Given the description of an element on the screen output the (x, y) to click on. 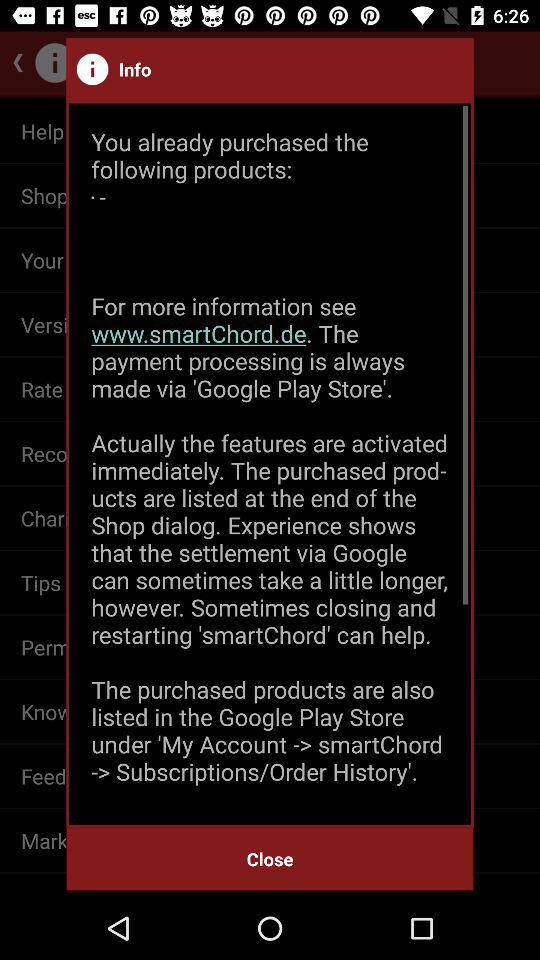
scroll until the close (269, 858)
